Given the description of an element on the screen output the (x, y) to click on. 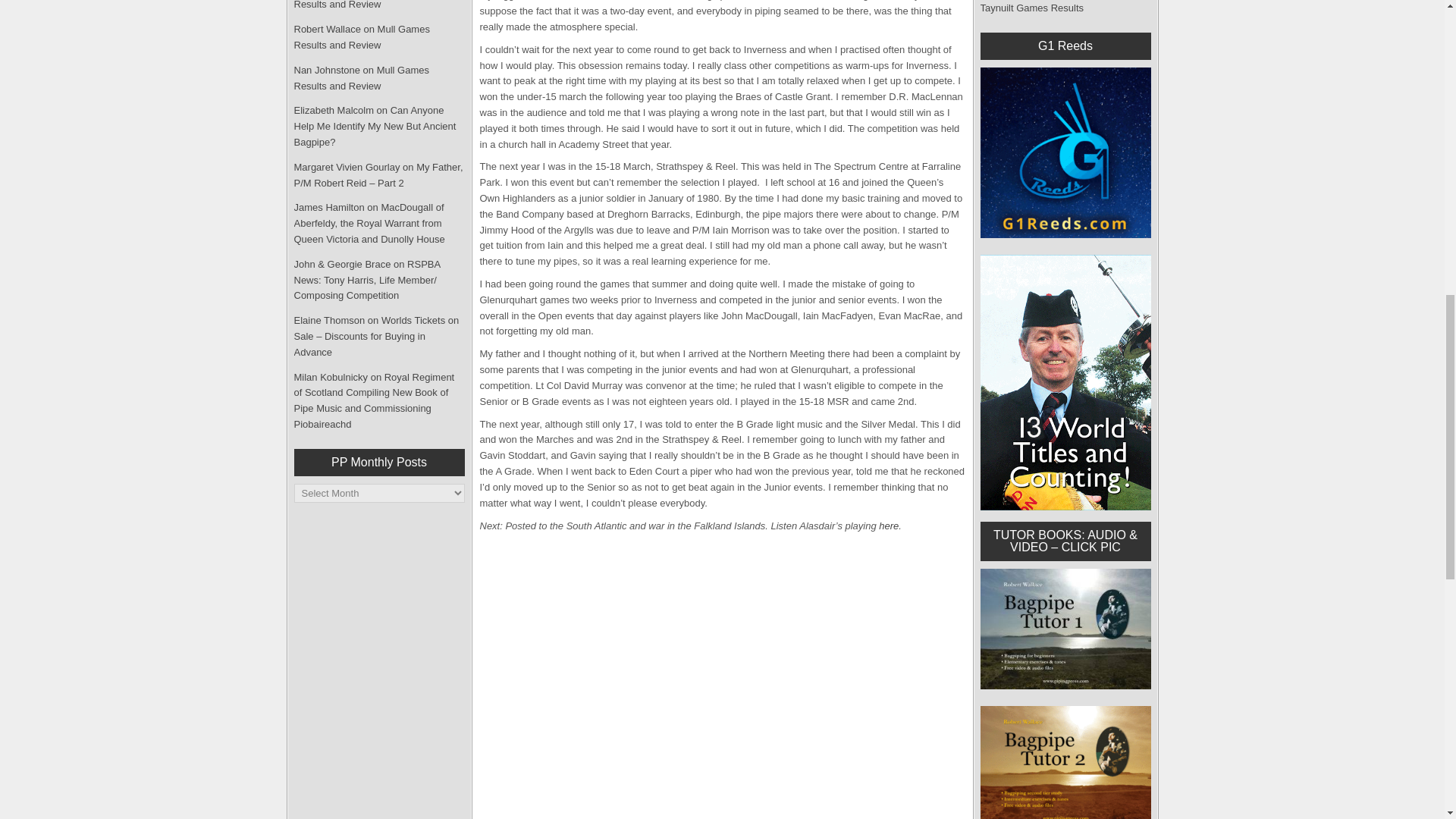
here (888, 525)
Mull Games Results and Review (368, 5)
